Given the description of an element on the screen output the (x, y) to click on. 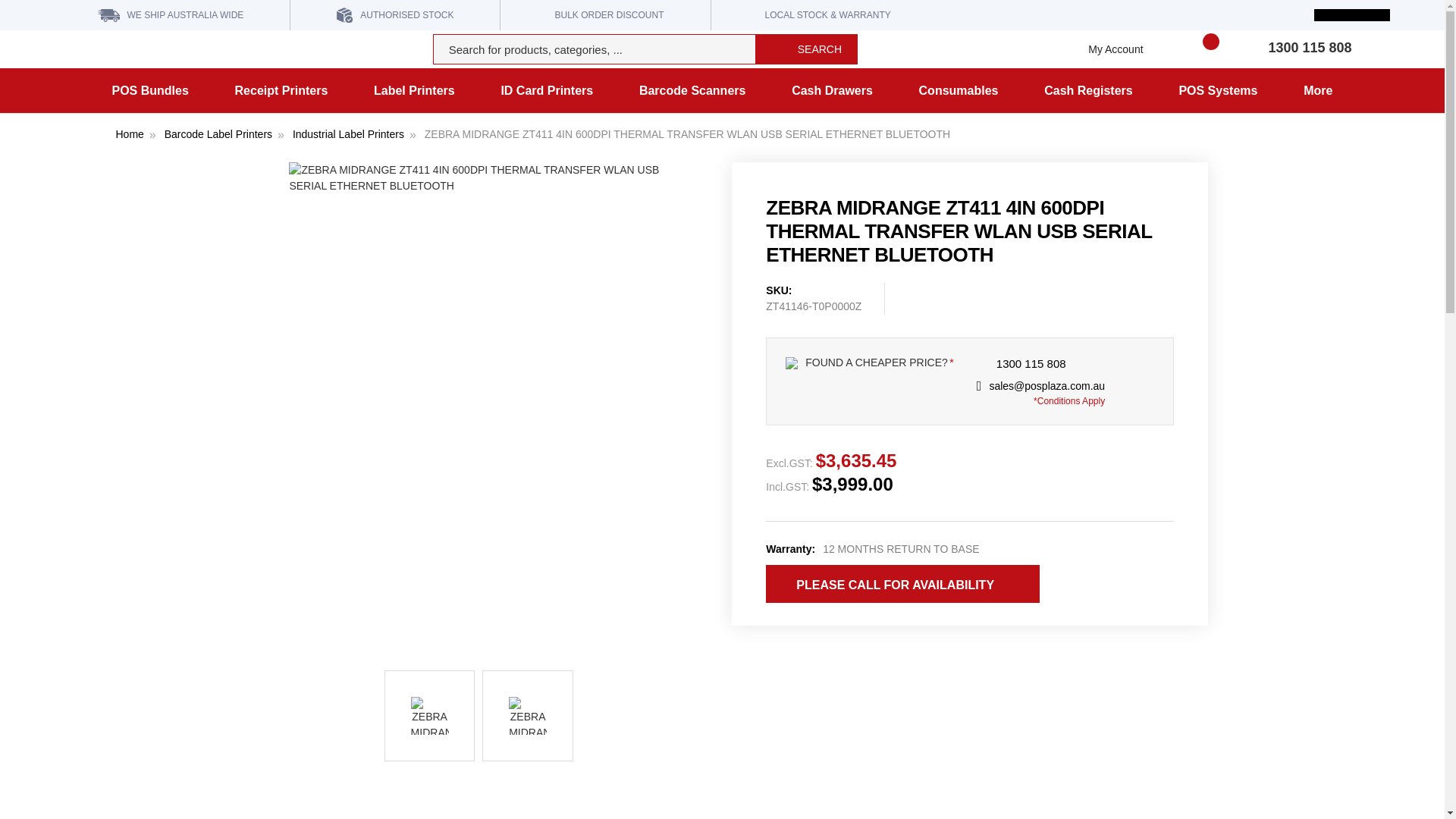
1300 115 808 (1309, 47)
Search (806, 49)
My Account (1111, 49)
Label Printers (414, 90)
Search (806, 49)
POS Bundles (149, 90)
Receipt Printers (281, 90)
